Given the description of an element on the screen output the (x, y) to click on. 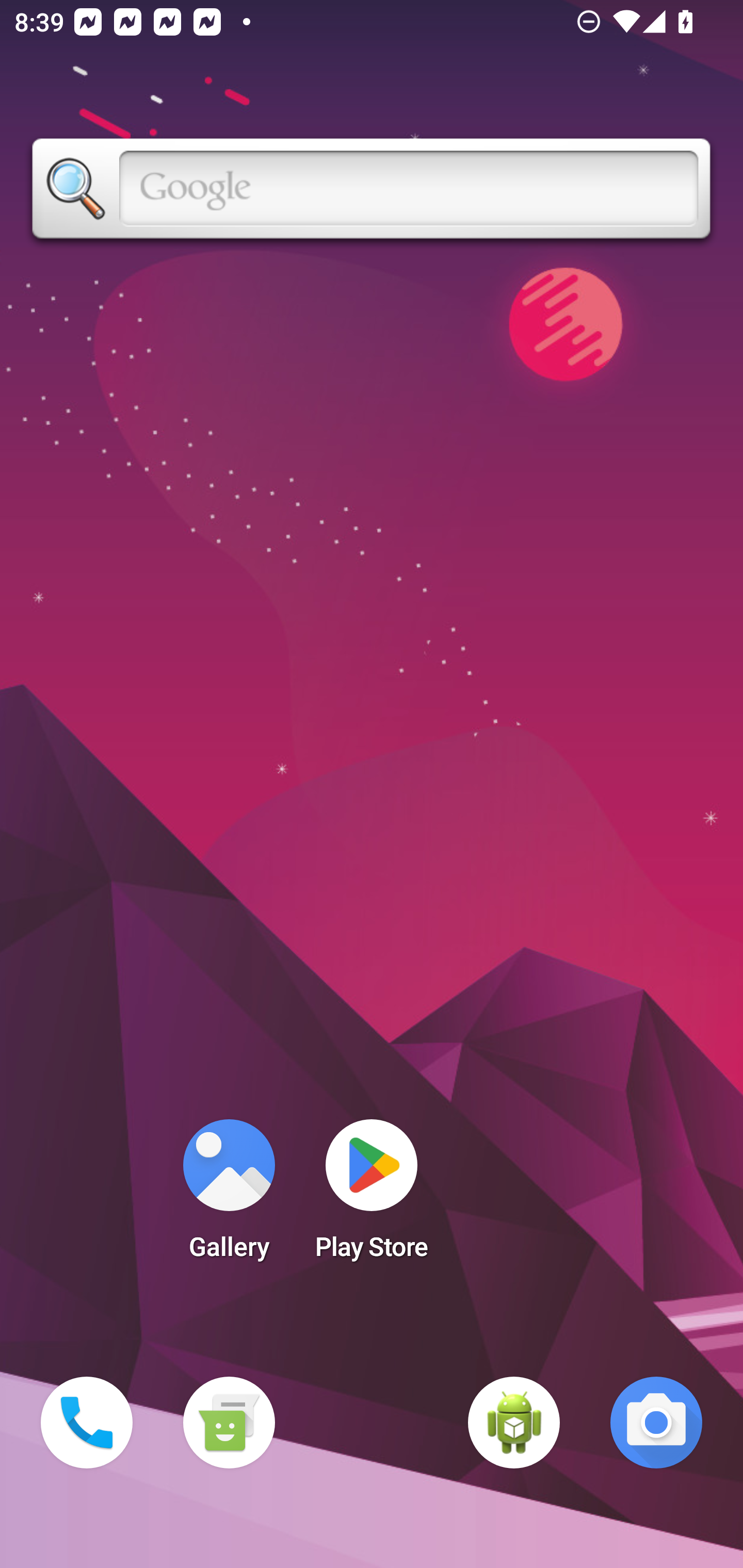
Gallery (228, 1195)
Play Store (371, 1195)
Phone (86, 1422)
Messaging (228, 1422)
WebView Browser Tester (513, 1422)
Camera (656, 1422)
